Given the description of an element on the screen output the (x, y) to click on. 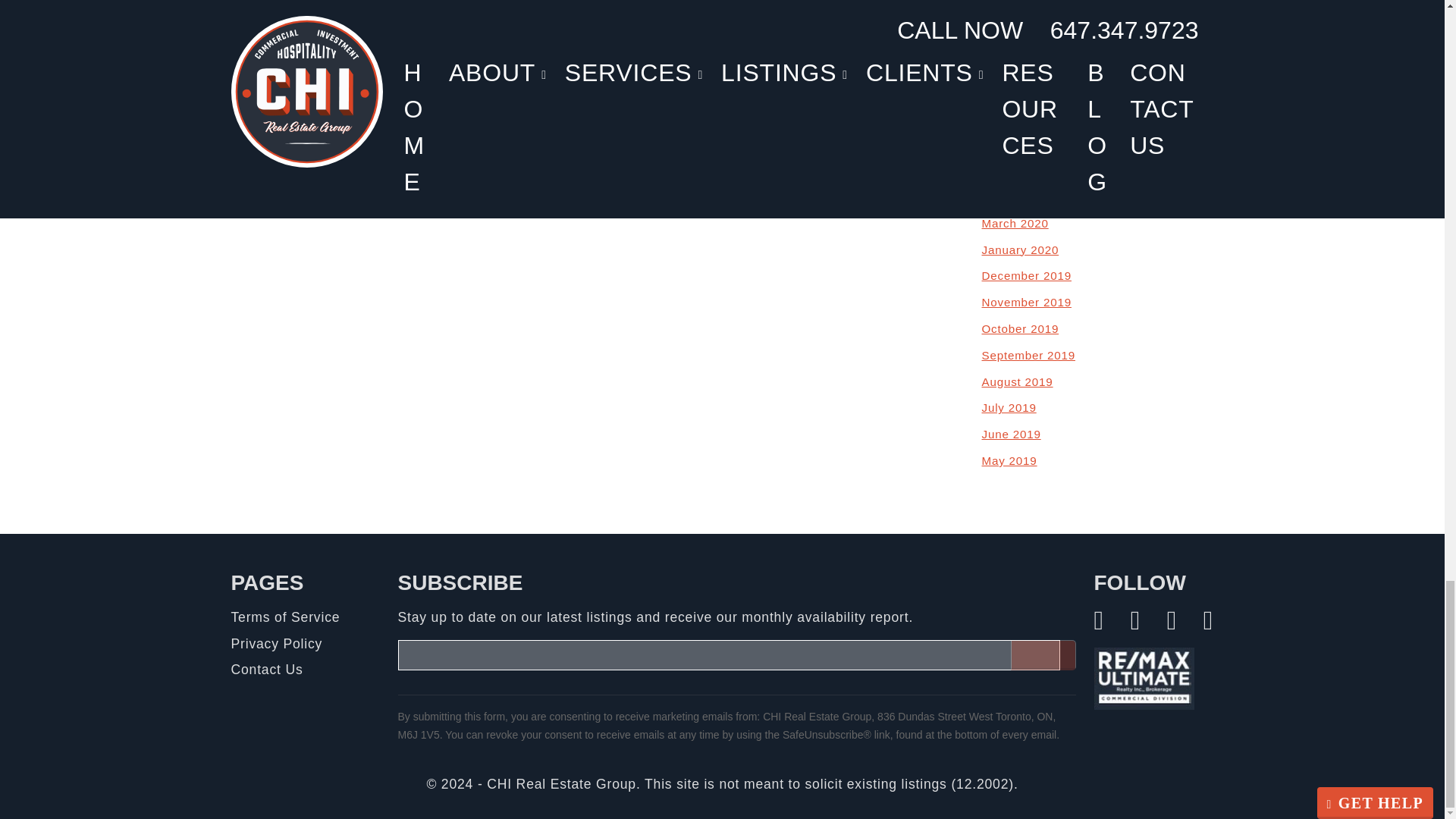
Sign up (1042, 654)
